Given the description of an element on the screen output the (x, y) to click on. 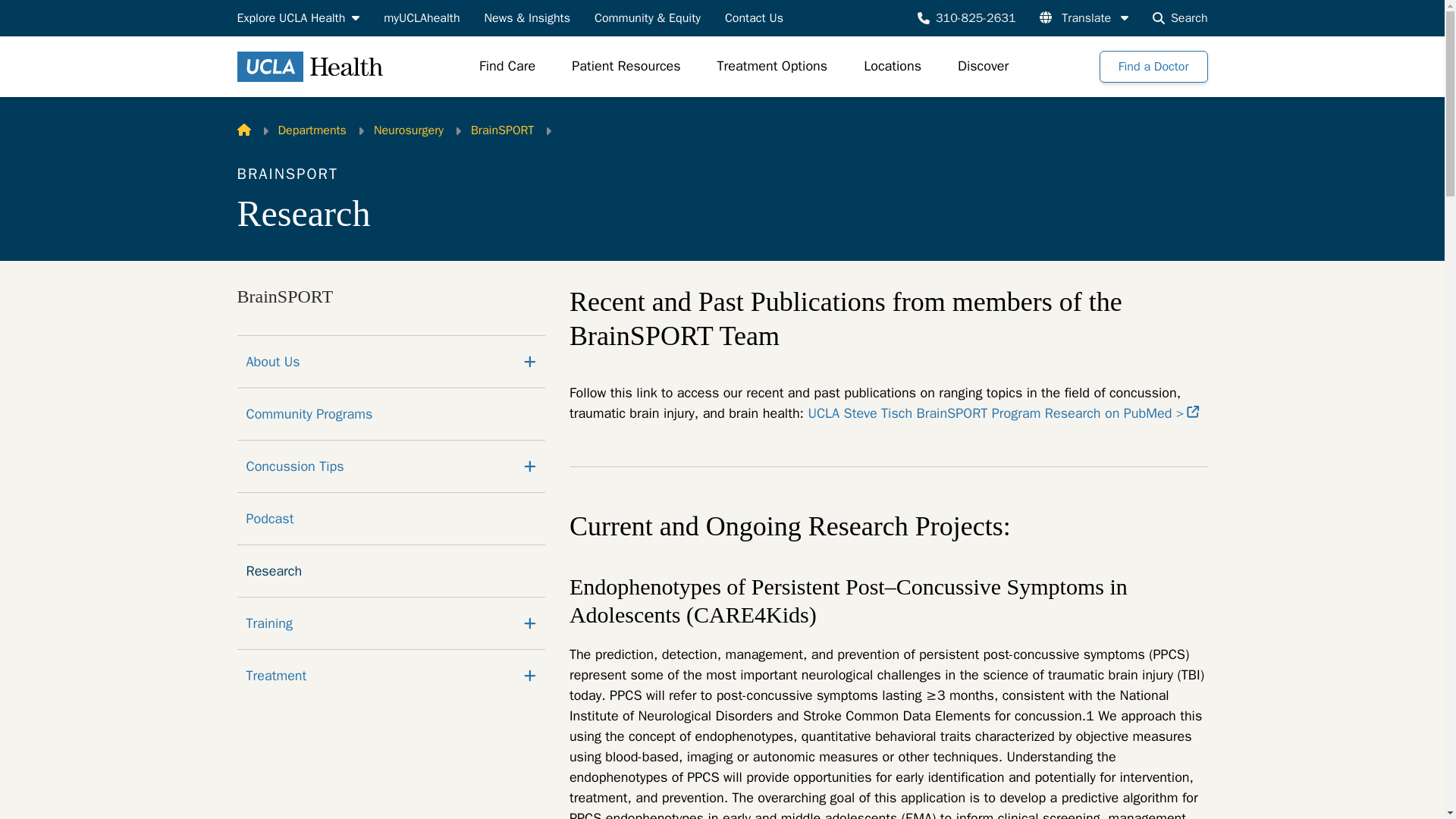
Explore UCLA Health (297, 17)
myUCLAhealth (421, 17)
310-825-2631 (966, 17)
Link is external (1192, 411)
Find Care (507, 66)
myUCLAhealth Login. (421, 17)
Translate (1083, 17)
Contact Us (753, 17)
Search (1180, 17)
